Given the description of an element on the screen output the (x, y) to click on. 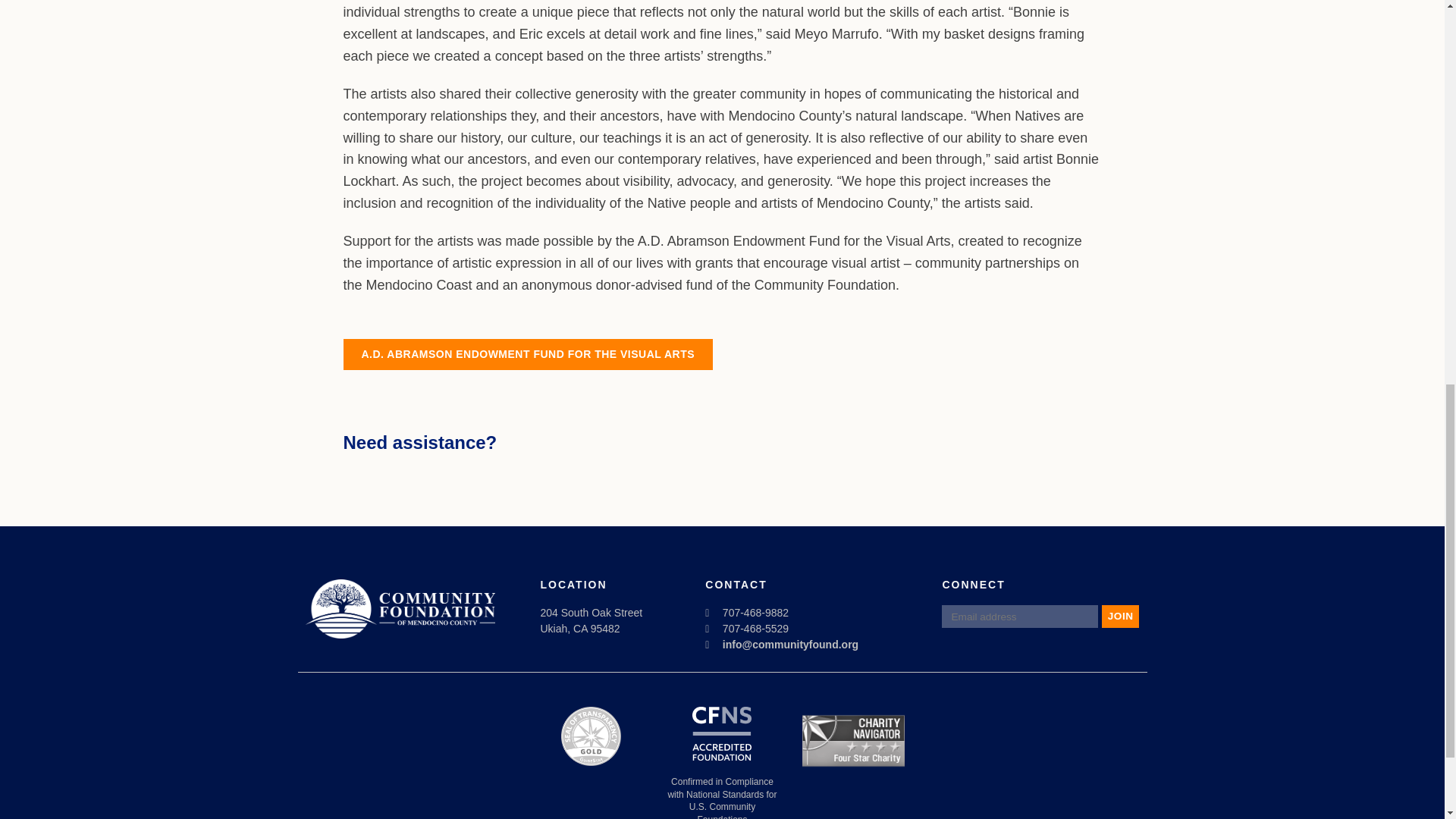
Join (1121, 616)
